Given the description of an element on the screen output the (x, y) to click on. 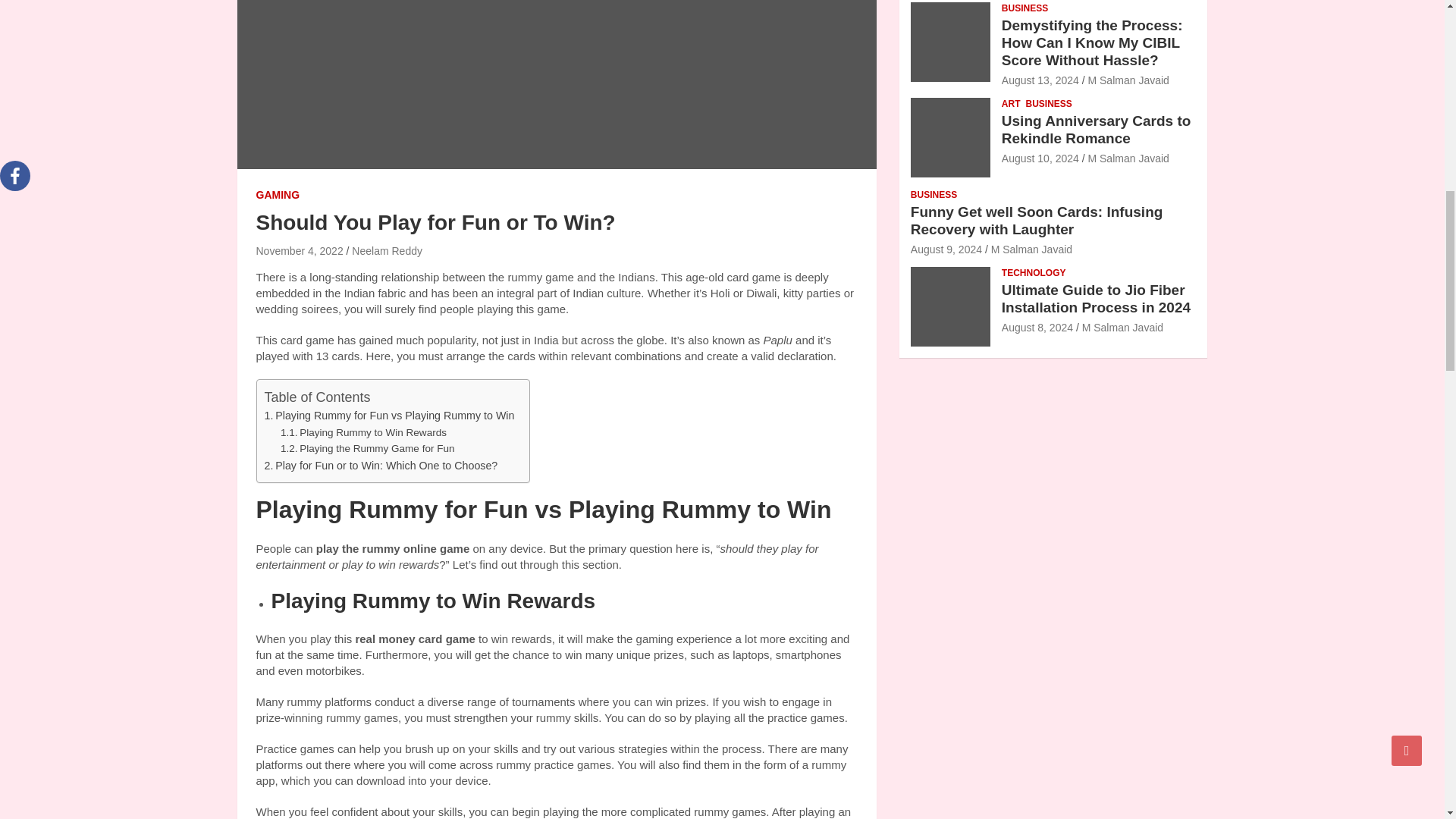
GAMING (277, 195)
Playing the Rummy Game for Fun (367, 448)
Should You Play for Fun or To Win? (299, 250)
Play for Fun or to Win: Which One to Choose? (380, 466)
Playing Rummy to Win Rewards (363, 433)
Playing Rummy for Fun vs Playing Rummy to Win (388, 416)
November 4, 2022 (299, 250)
Neelam Reddy (387, 250)
